Given the description of an element on the screen output the (x, y) to click on. 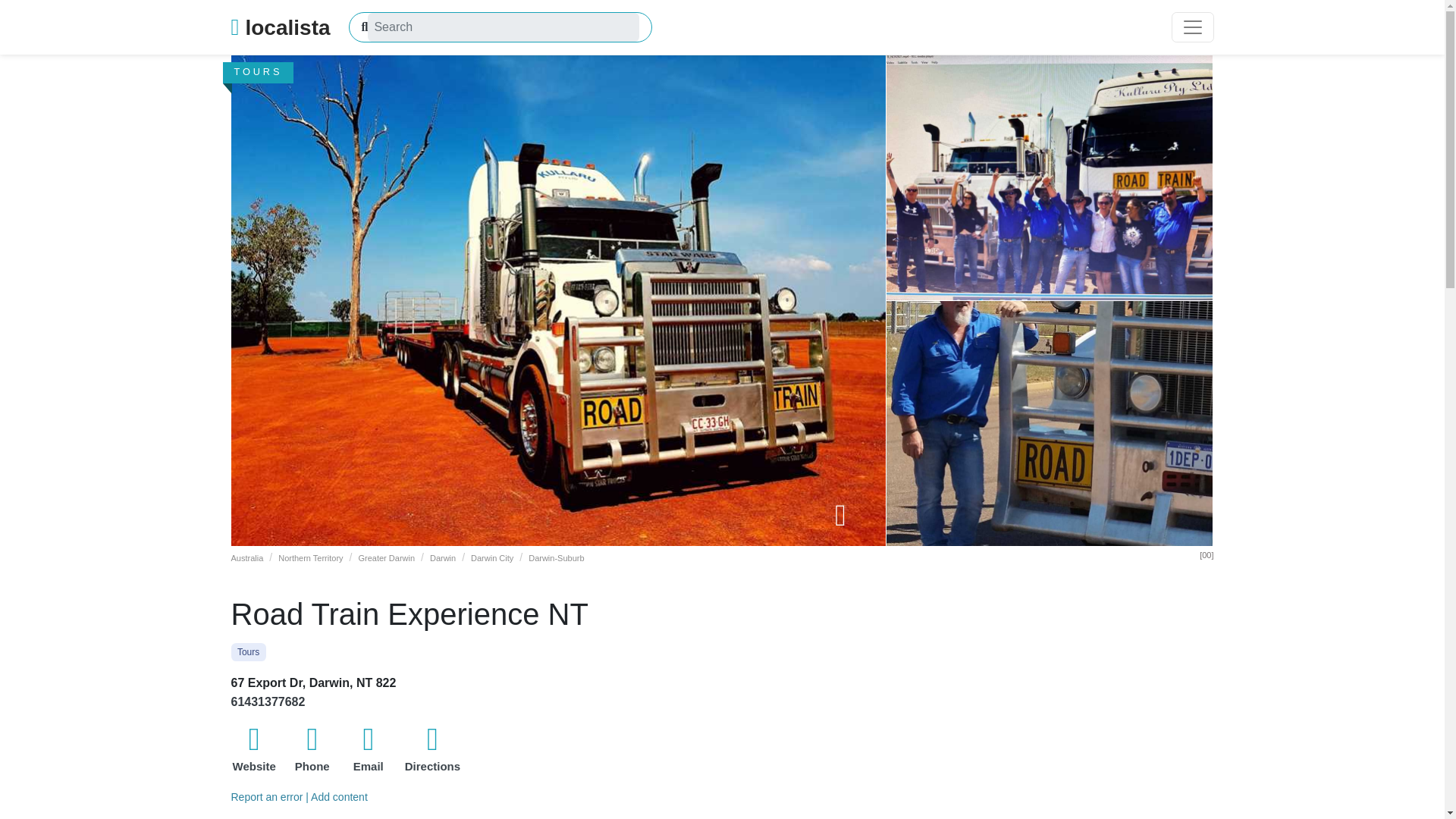
Northern Territory (310, 557)
Greater Darwin (386, 557)
61431377682 (267, 701)
Australia (246, 557)
Email (368, 751)
Darwin City (491, 557)
Darwin-Suburb (555, 557)
localista (280, 26)
61431377682 (267, 701)
Website (253, 751)
